Given the description of an element on the screen output the (x, y) to click on. 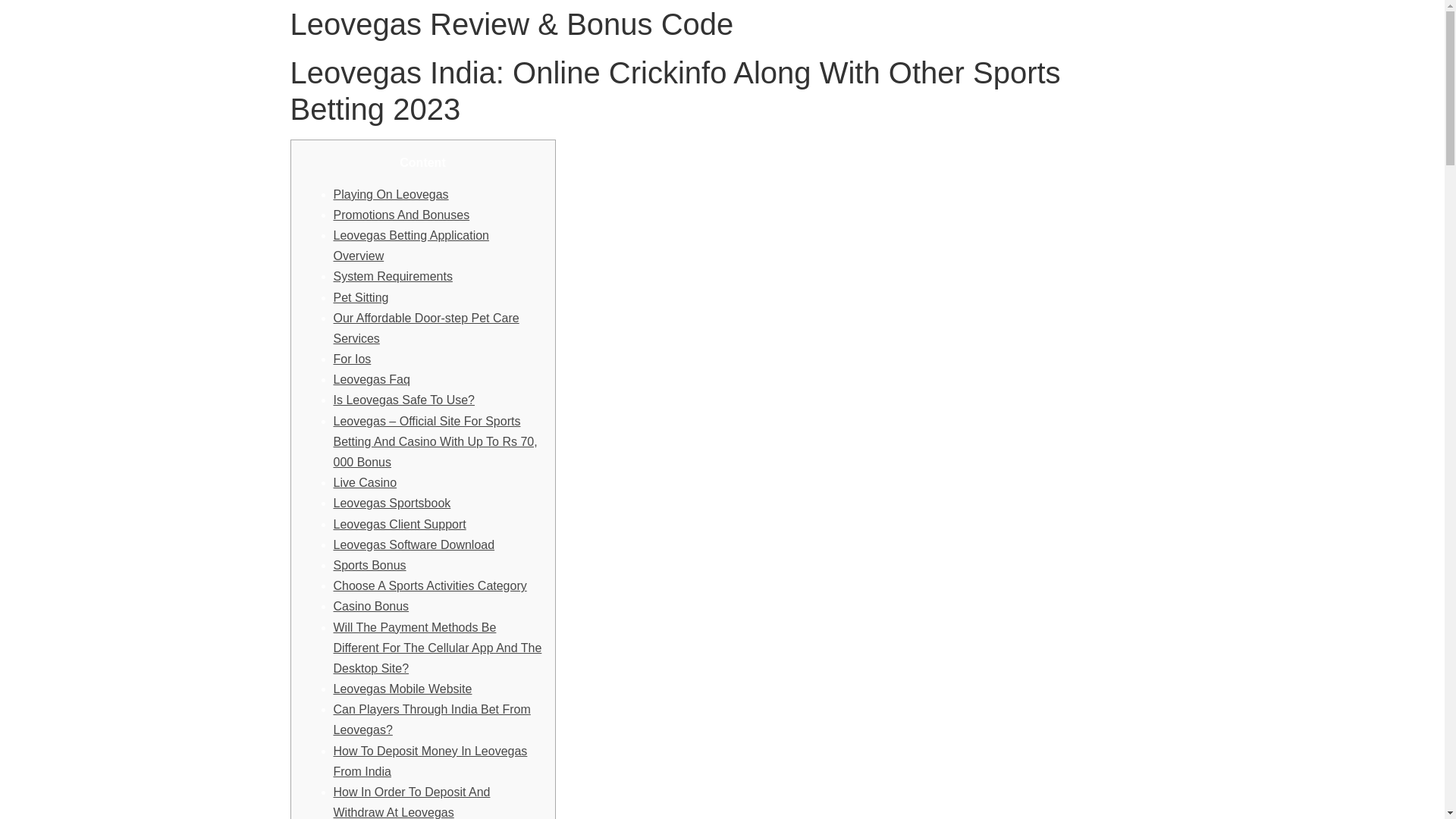
Leovegas Betting Application Overview (411, 245)
Leovegas Software Download (414, 544)
Leovegas Client Support (399, 523)
Our Affordable Door-step Pet Care Services (426, 328)
Choose A Sports Activities Category (430, 585)
Leovegas Faq (371, 379)
Live Casino (365, 481)
How In Order To Deposit And Withdraw At Leovegas (411, 802)
Can Players Through India Bet From Leovegas? (432, 719)
Leovegas Sportsbook (392, 502)
Playing On Leovegas (390, 194)
For Ios (352, 358)
Leovegas Mobile Website (402, 688)
System Requirements (392, 276)
